Given the description of an element on the screen output the (x, y) to click on. 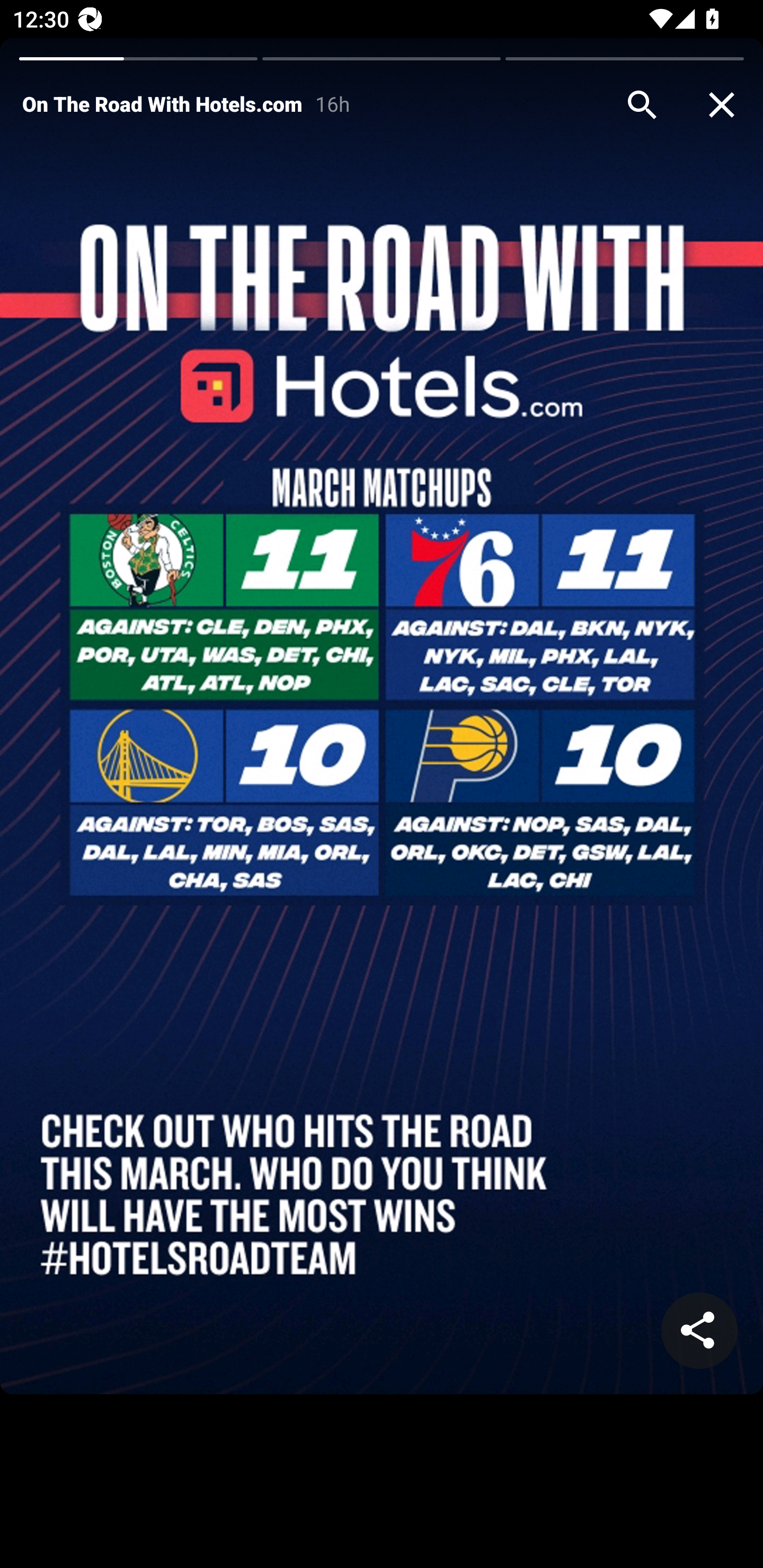
search (642, 104)
close (721, 104)
share (699, 1330)
